Given the description of an element on the screen output the (x, y) to click on. 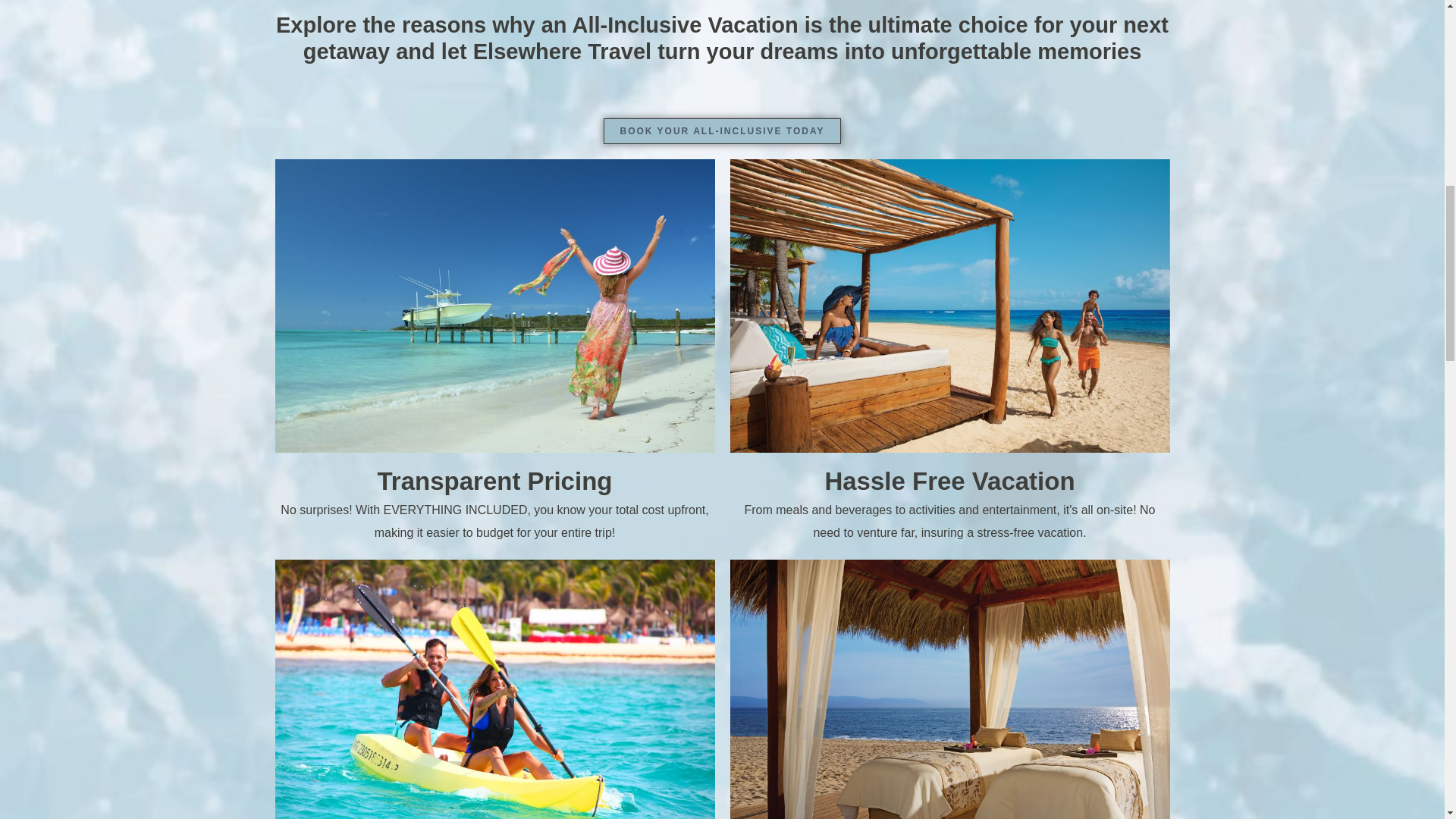
BOOK YOUR ALL-INCLUSIVE TODAY (722, 130)
Web all-inclusives excursions (494, 689)
